Given the description of an element on the screen output the (x, y) to click on. 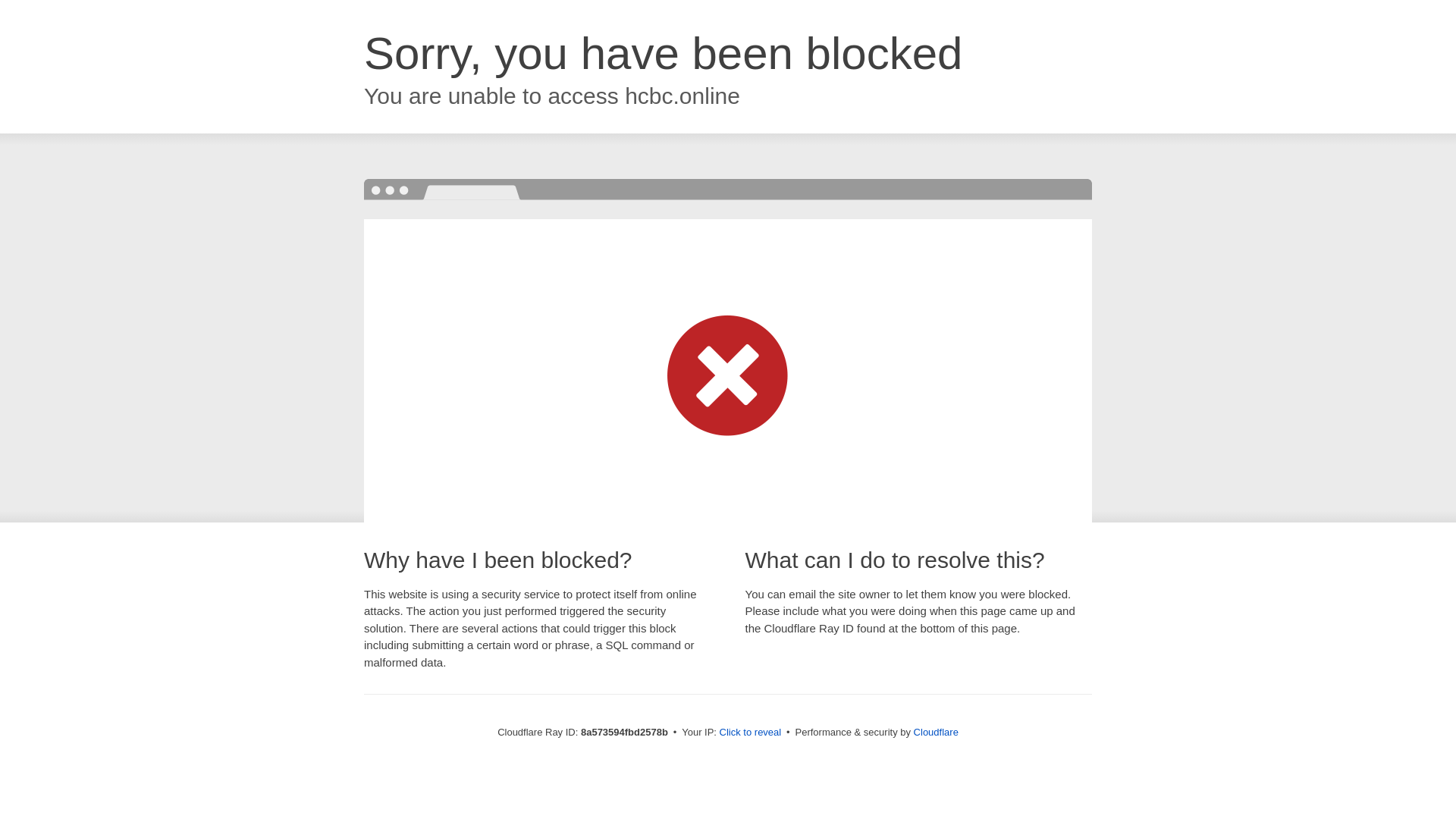
Cloudflare (936, 731)
Click to reveal (750, 732)
